Given the description of an element on the screen output the (x, y) to click on. 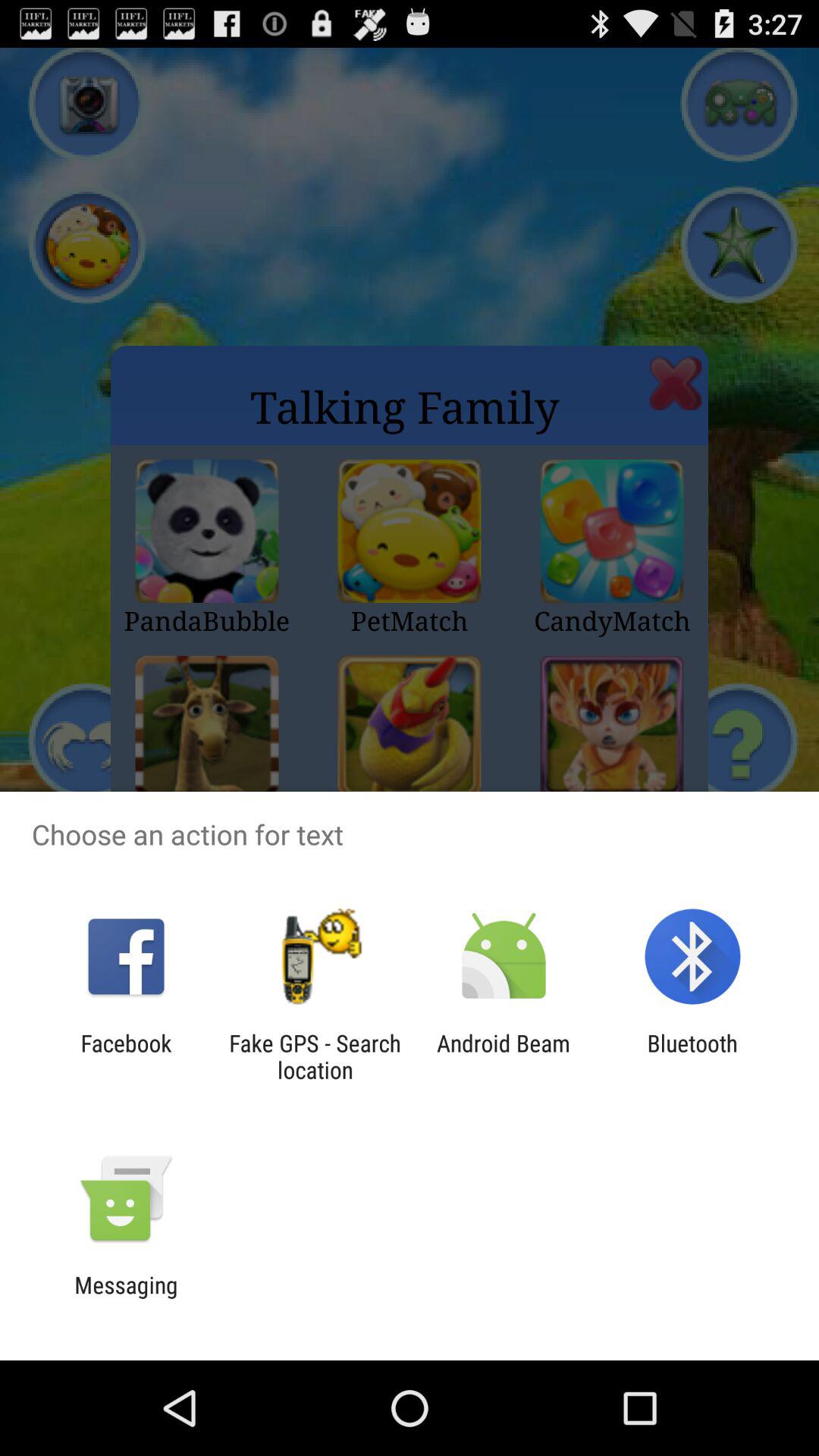
click the android beam (503, 1056)
